Given the description of an element on the screen output the (x, y) to click on. 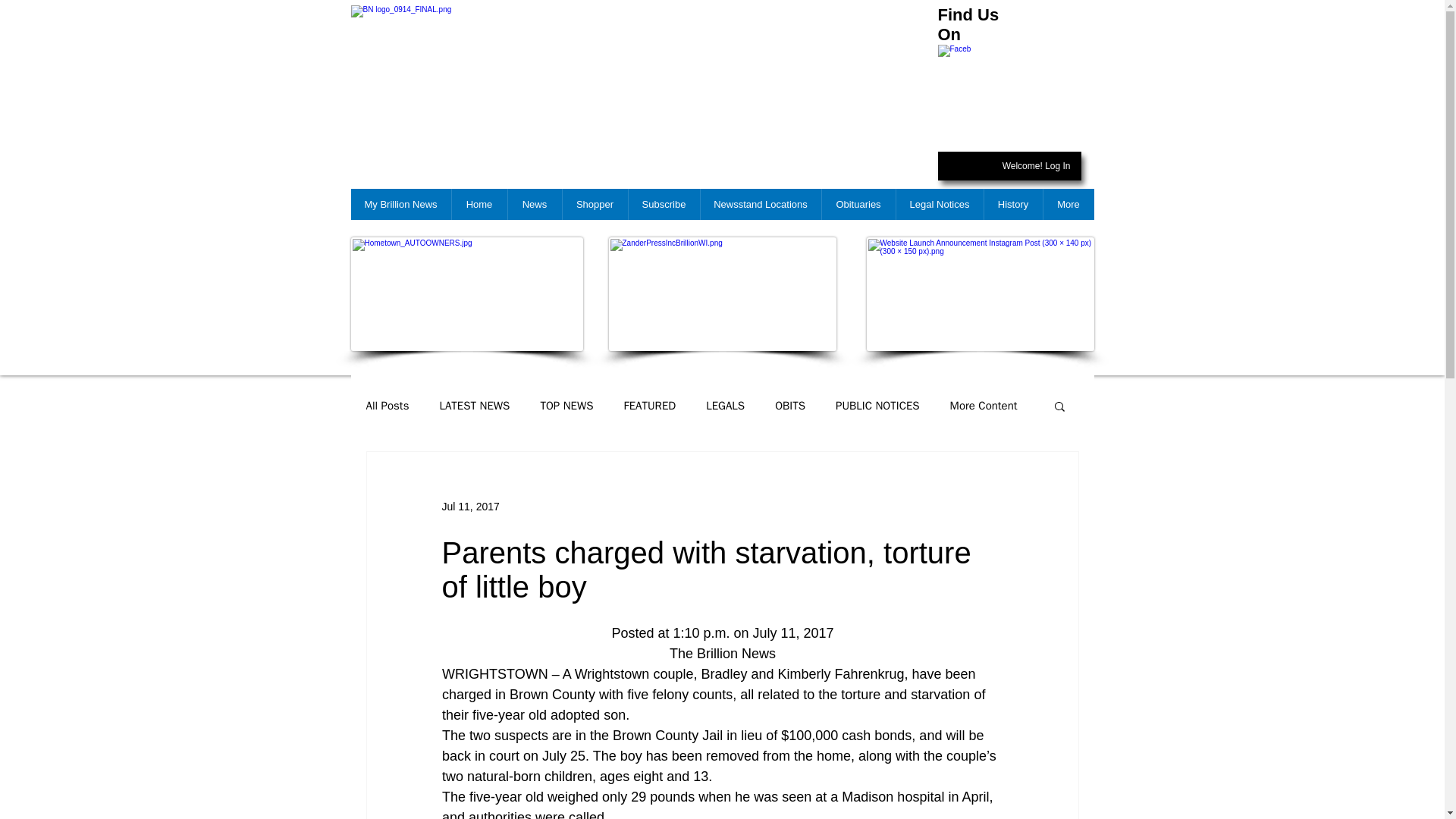
LATEST NEWS (474, 405)
History (1012, 204)
News (533, 204)
Jul 11, 2017 (470, 506)
Subscribe (663, 204)
My Brillion News (399, 204)
Obituaries (858, 204)
Newsstand Locations (759, 204)
PUBLIC NOTICES (877, 405)
All Posts (387, 405)
